Given the description of an element on the screen output the (x, y) to click on. 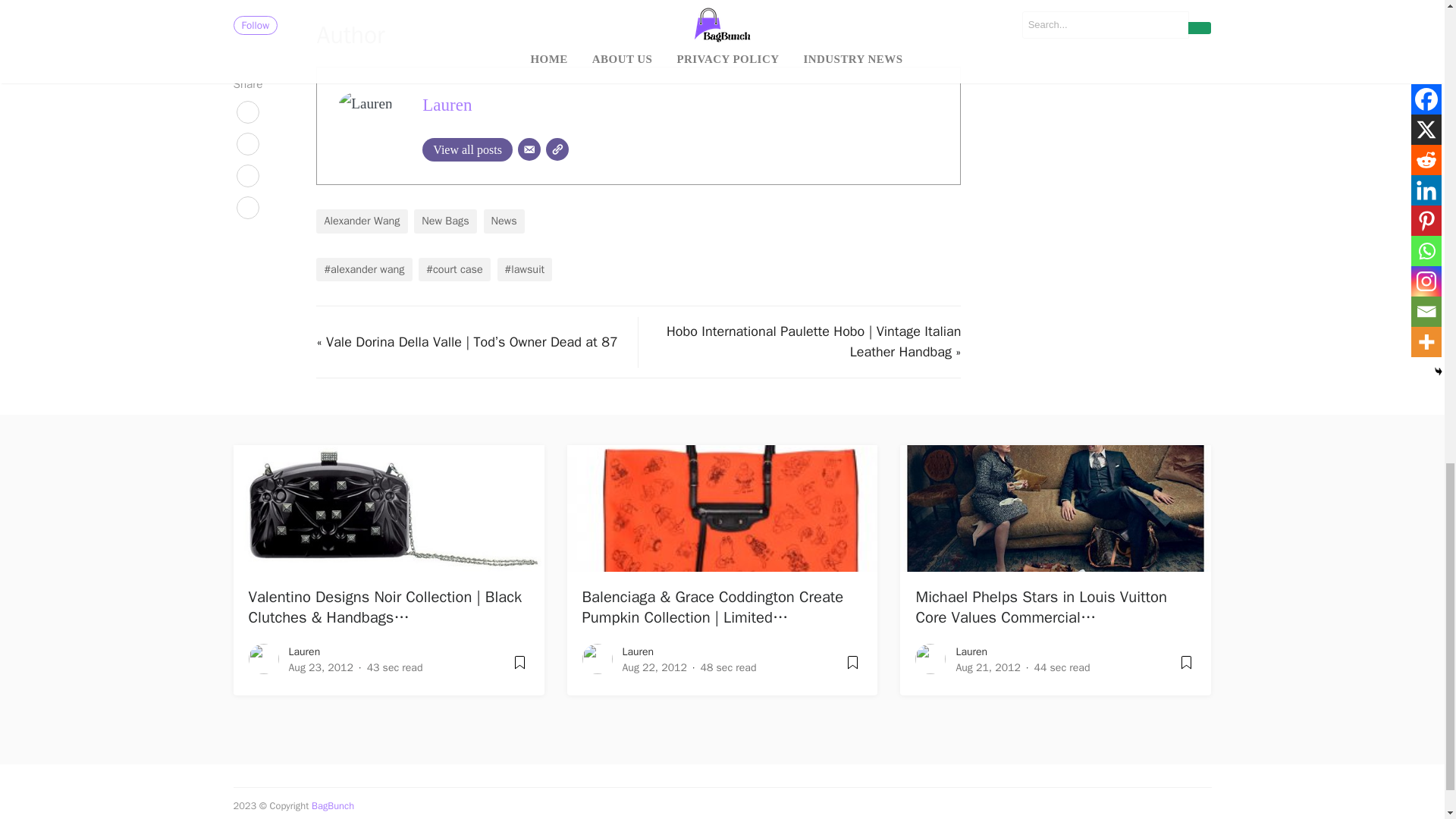
Lauren (446, 104)
View all posts (467, 149)
View all posts (467, 149)
Lauren (446, 104)
